Given the description of an element on the screen output the (x, y) to click on. 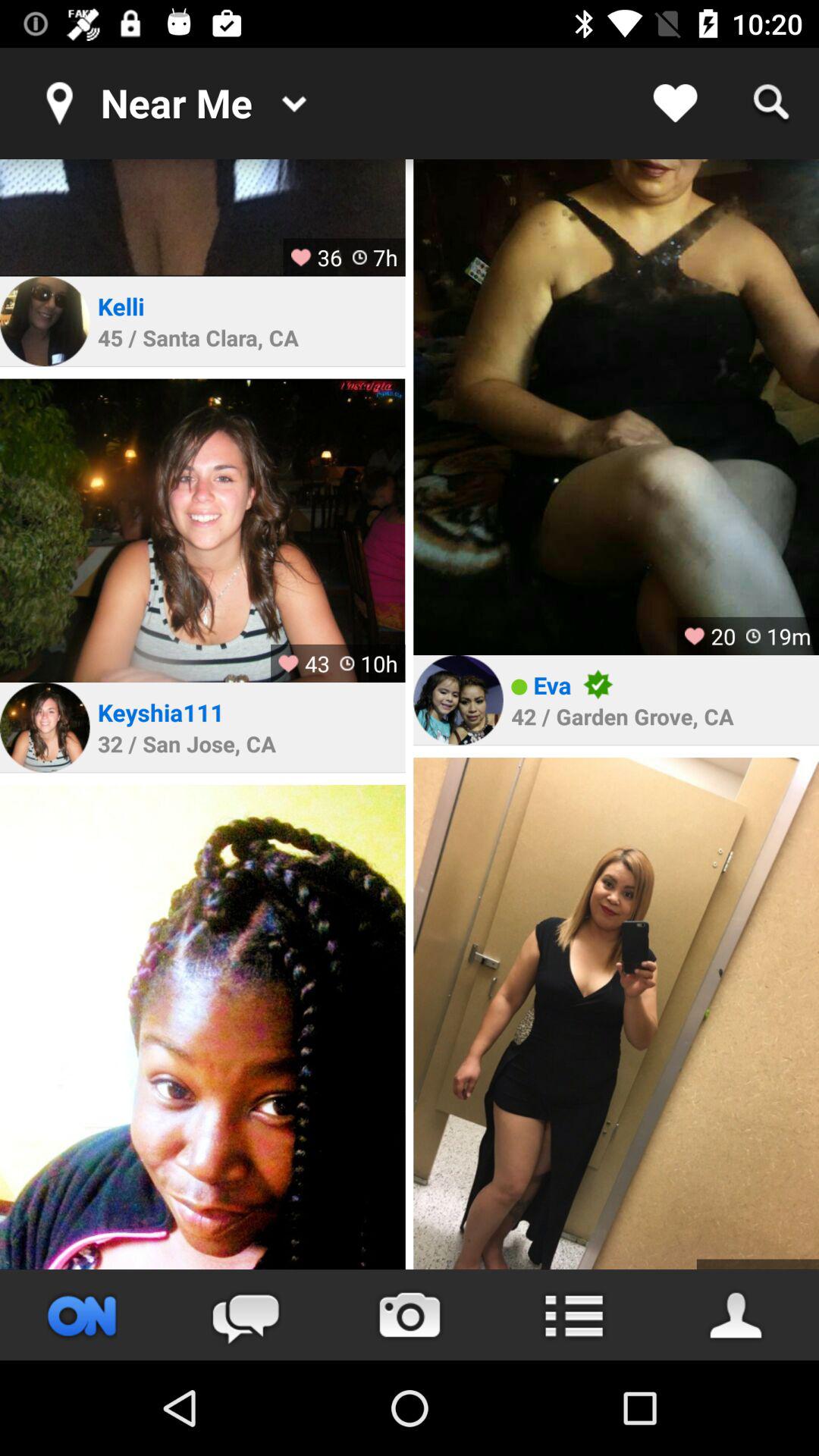
show picture (202, 217)
